Given the description of an element on the screen output the (x, y) to click on. 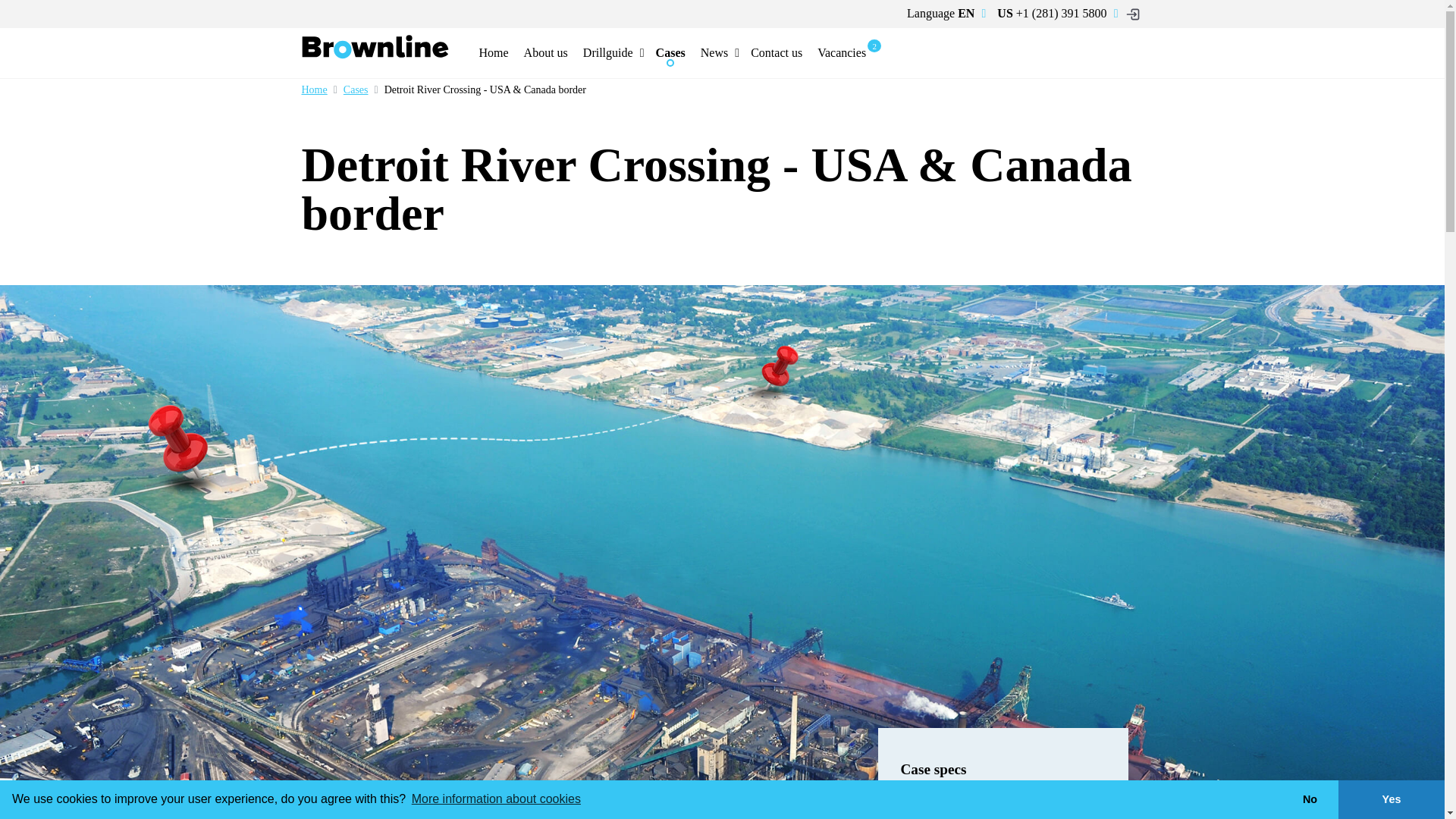
Cases (347, 90)
Language EN (940, 13)
Home (314, 90)
Cases (670, 52)
Cases (347, 90)
Home (314, 90)
Drillguide (607, 52)
News (714, 52)
About us (545, 52)
Contact us (775, 52)
Home (493, 52)
